Given the description of an element on the screen output the (x, y) to click on. 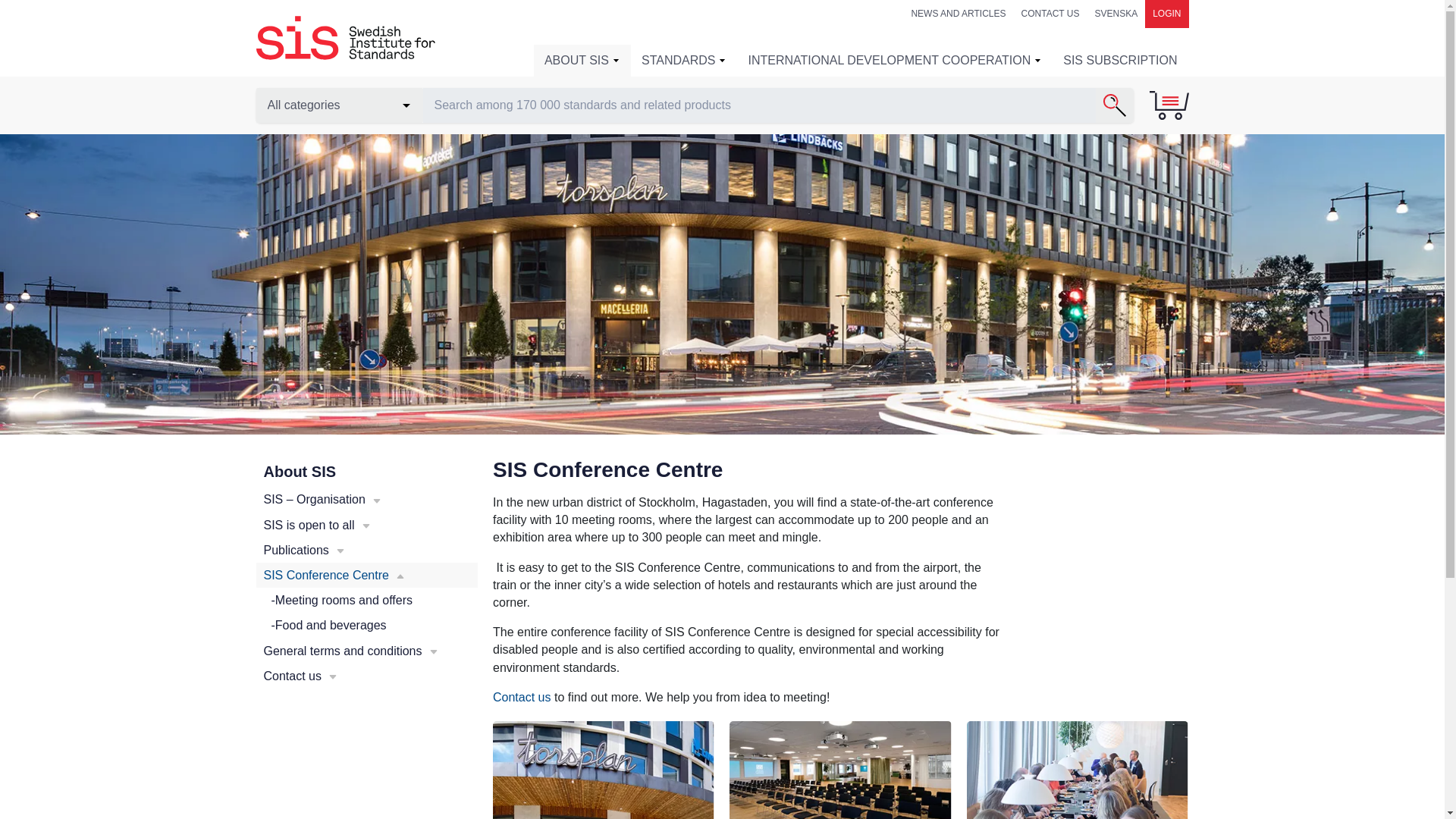
ABOUT SIS (582, 60)
STANDARDS (684, 60)
NEWS AND ARTICLES (957, 13)
CONTACT US (1050, 13)
LOGIN (1166, 13)
Go to Start Page (345, 37)
INTERNATIONAL DEVELOPMENT COOPERATION (894, 60)
Shopping cart (1168, 104)
SVENSKA (1115, 13)
